Given the description of an element on the screen output the (x, y) to click on. 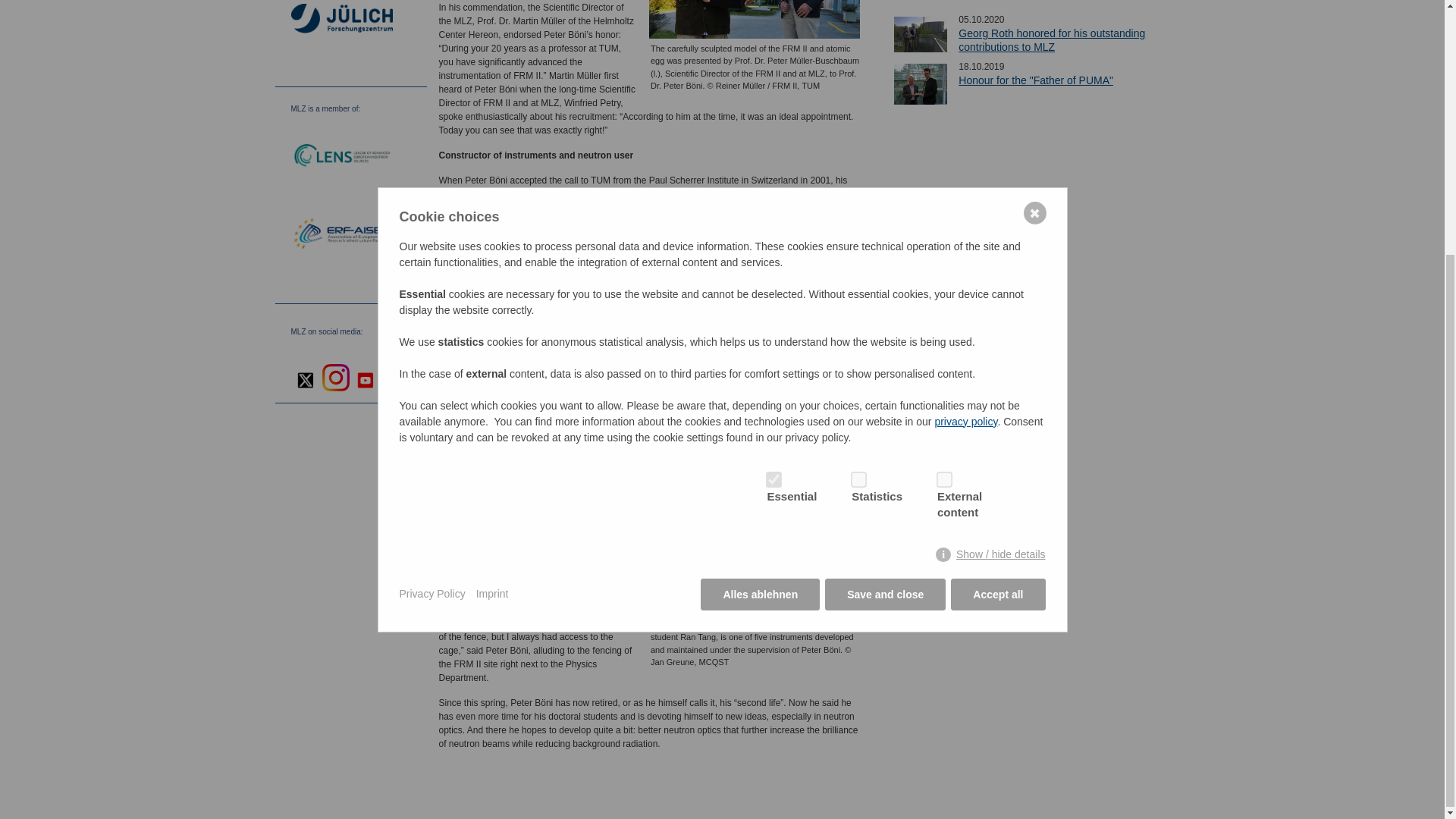
on (941, 115)
ERF-AISBL (342, 234)
on (855, 115)
LENS (342, 156)
on (770, 115)
